Given the description of an element on the screen output the (x, y) to click on. 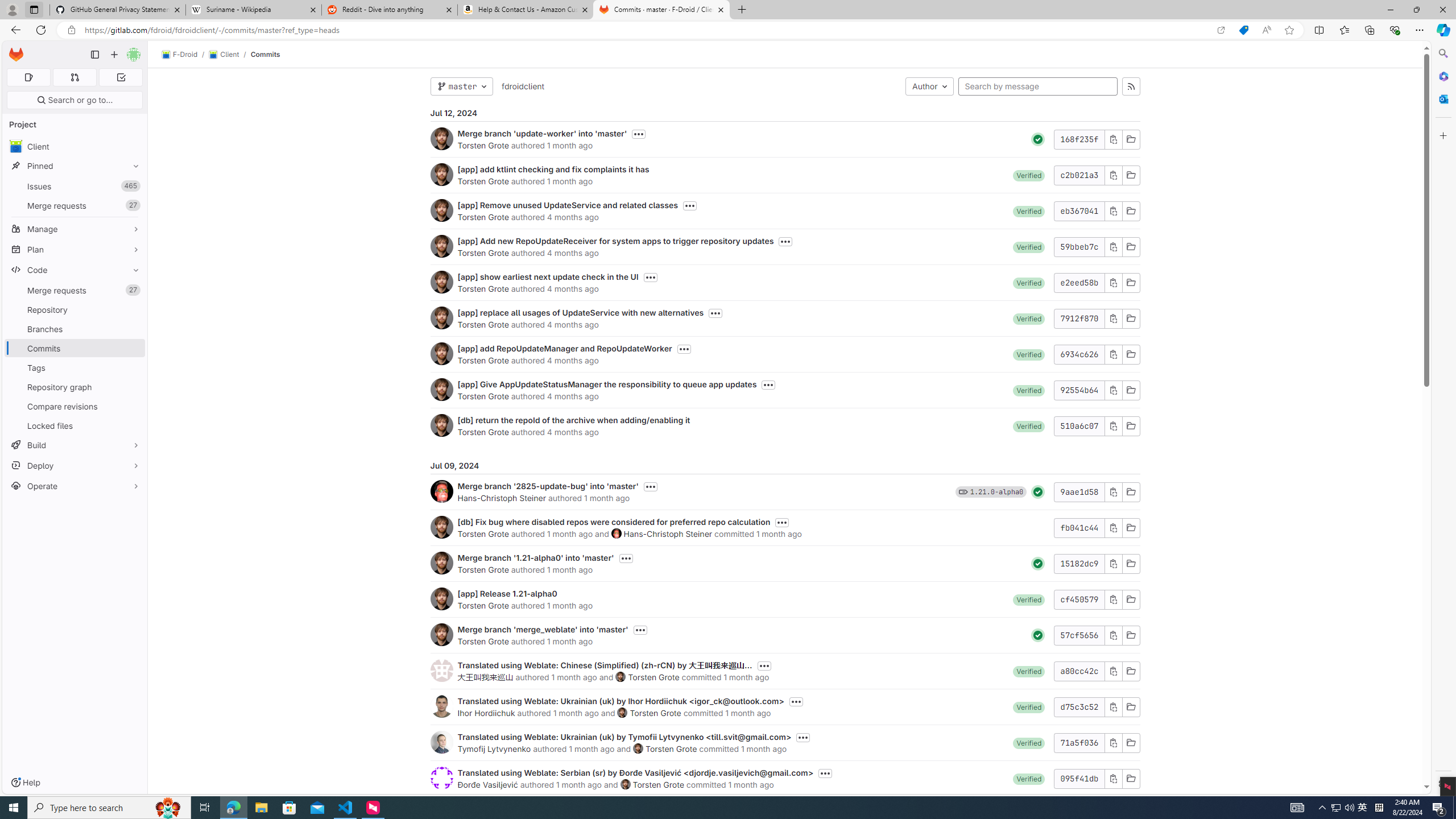
Repository graph (74, 386)
Deploy (74, 465)
[app] Release 1.21-alpha0 (507, 593)
Unpin Merge requests (132, 290)
Help & Contact Us - Amazon Customer Service (525, 9)
Merge requests27 (74, 289)
Compare revisions (74, 406)
